Given the description of an element on the screen output the (x, y) to click on. 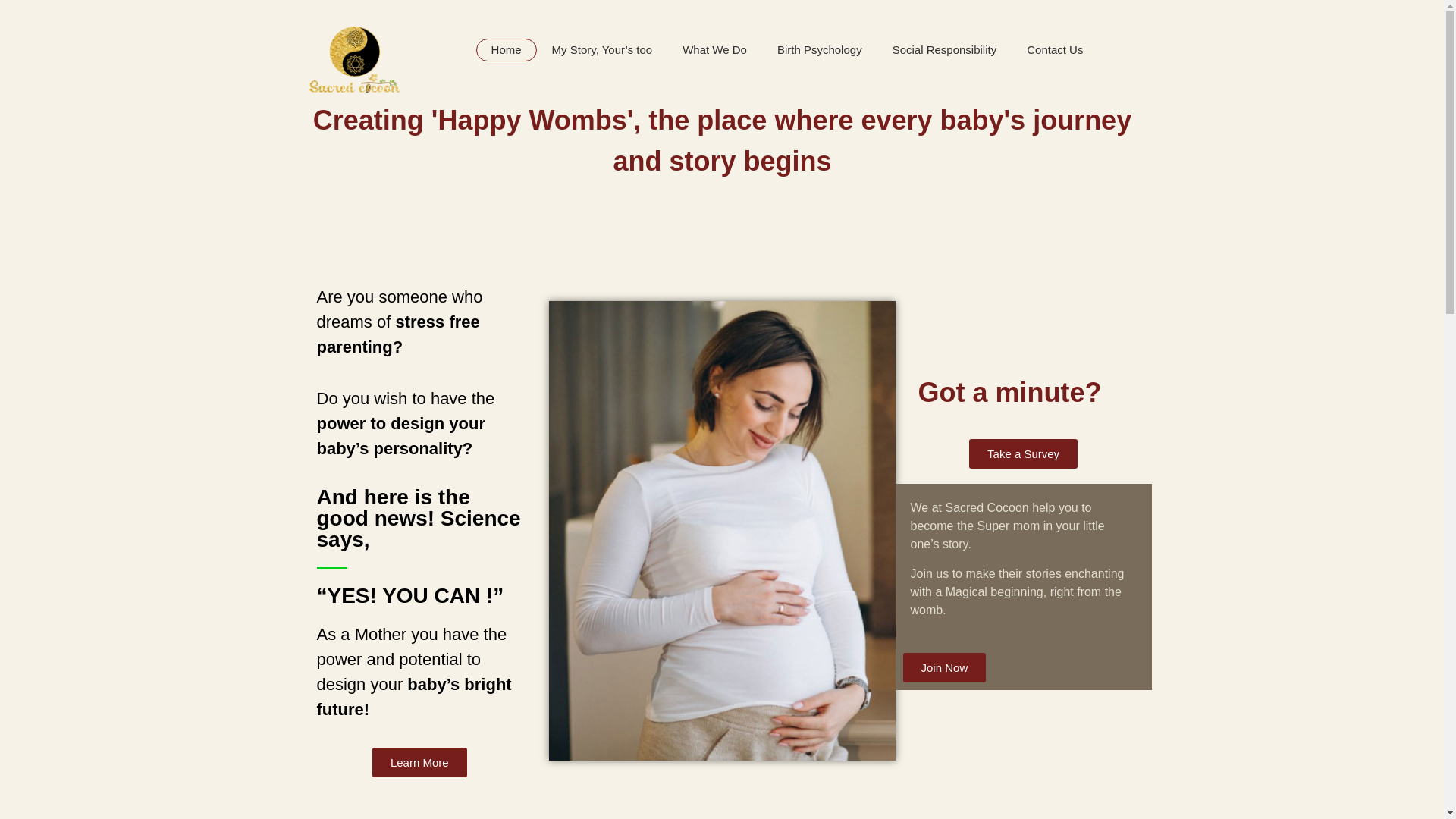
Contact Us (1054, 49)
What We Do (713, 49)
Take a Survey (1023, 453)
Social Responsibility (944, 49)
Home (506, 49)
Birth Psychology (819, 49)
Learn More (419, 762)
Join Now (944, 667)
